Given the description of an element on the screen output the (x, y) to click on. 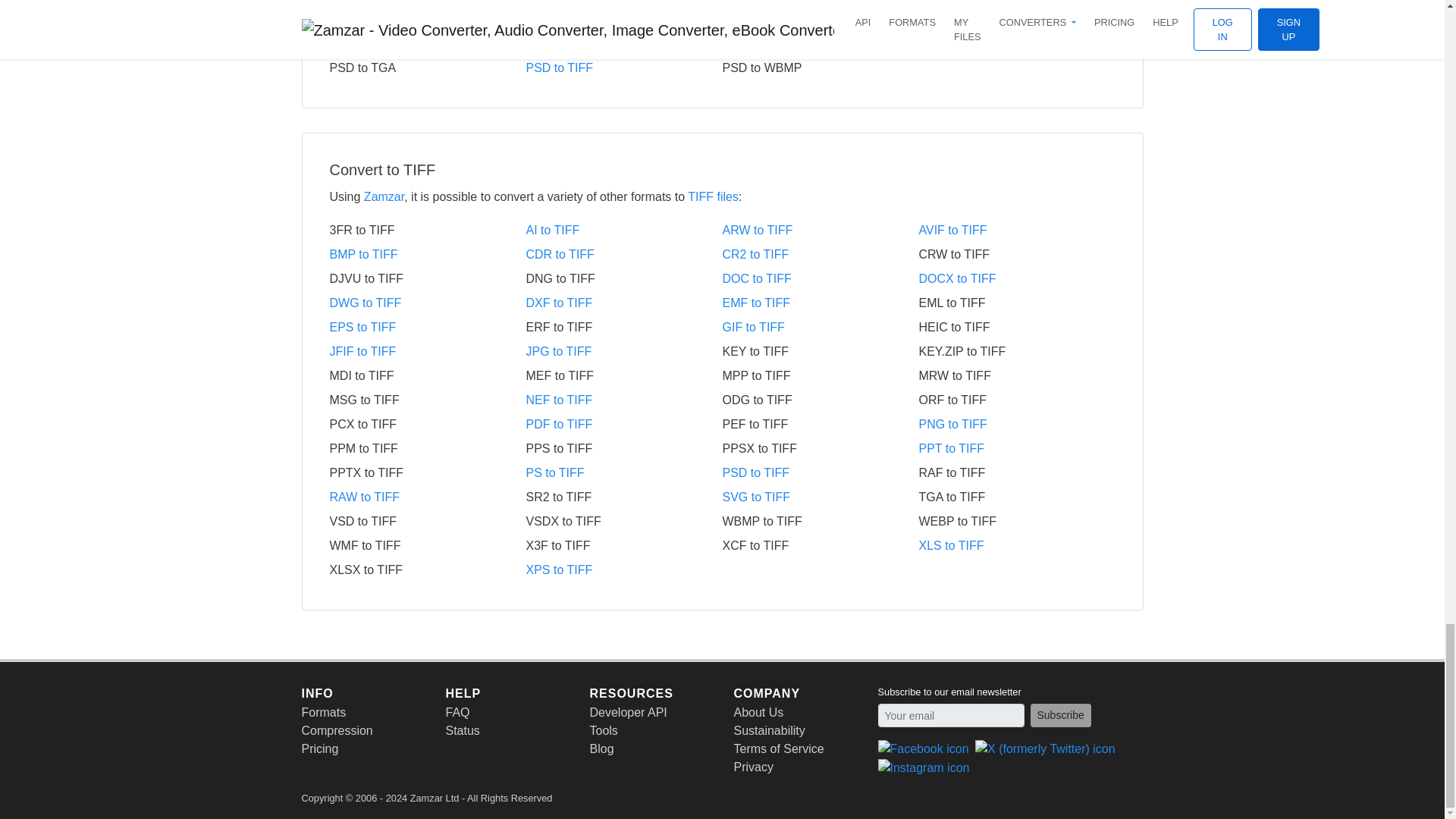
PSD to DOC Converter (623, 19)
PSD to JPG Converter (427, 43)
PSD to GIF Converter (1016, 19)
PSD to BMP Converter (427, 19)
PSD to PDF Converter (820, 43)
PSD to DOCX Converter (820, 19)
